Given the description of an element on the screen output the (x, y) to click on. 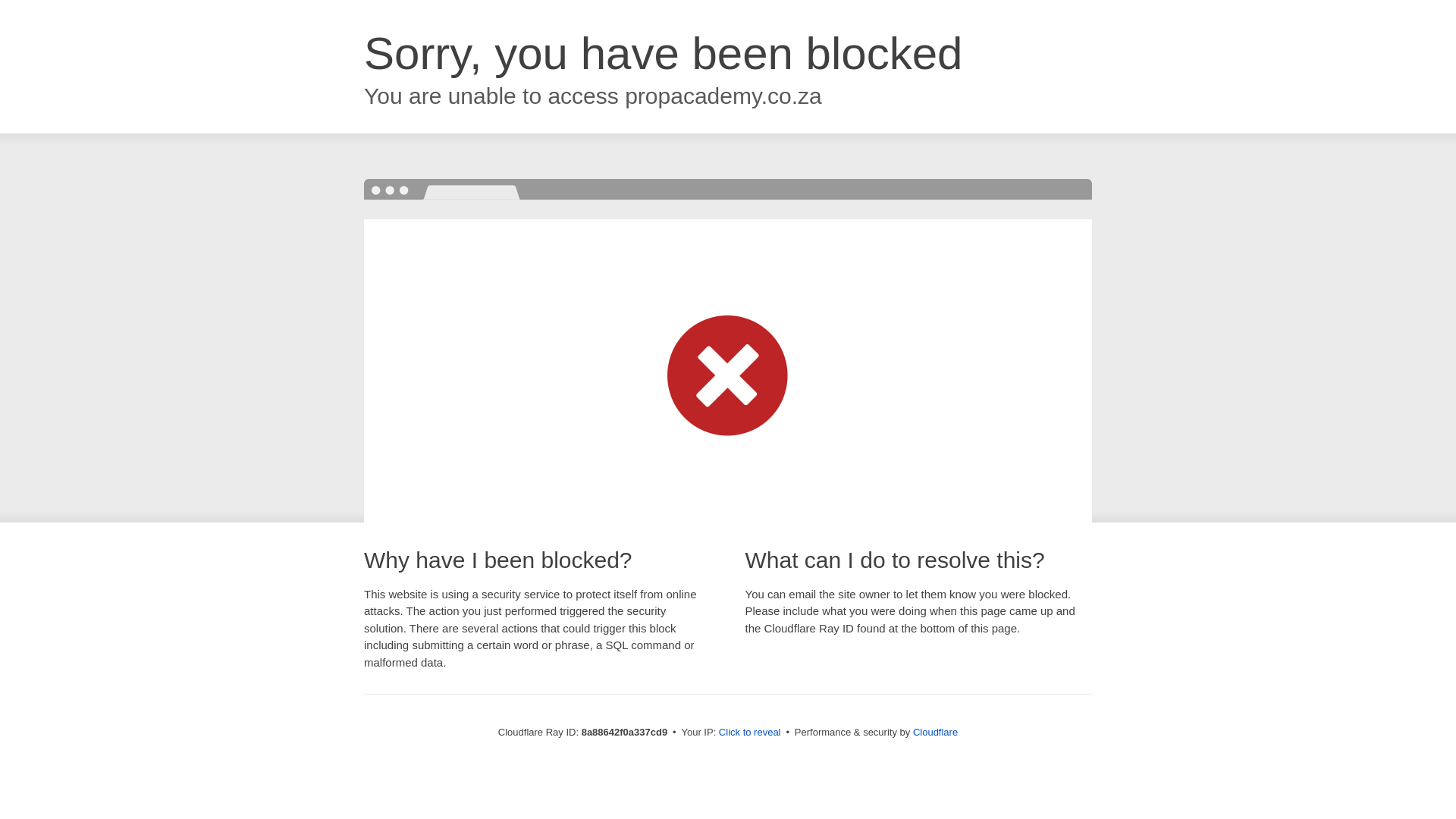
Cloudflare (935, 731)
Click to reveal (749, 732)
